Given the description of an element on the screen output the (x, y) to click on. 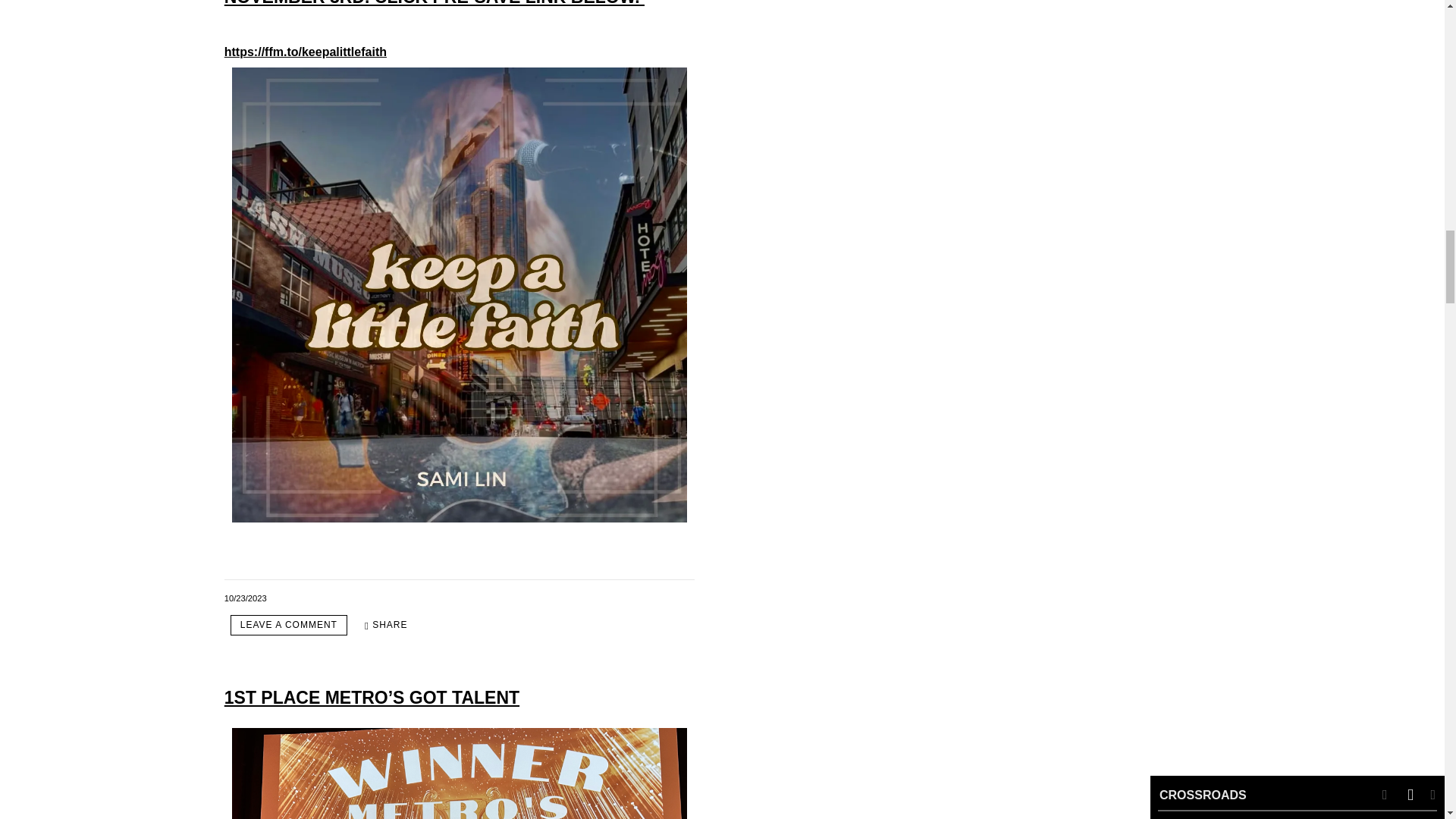
LEAVE A COMMENT (288, 625)
October 23, 2023 20:27 (245, 597)
SHARE (385, 624)
Leave a comment (288, 625)
